Given the description of an element on the screen output the (x, y) to click on. 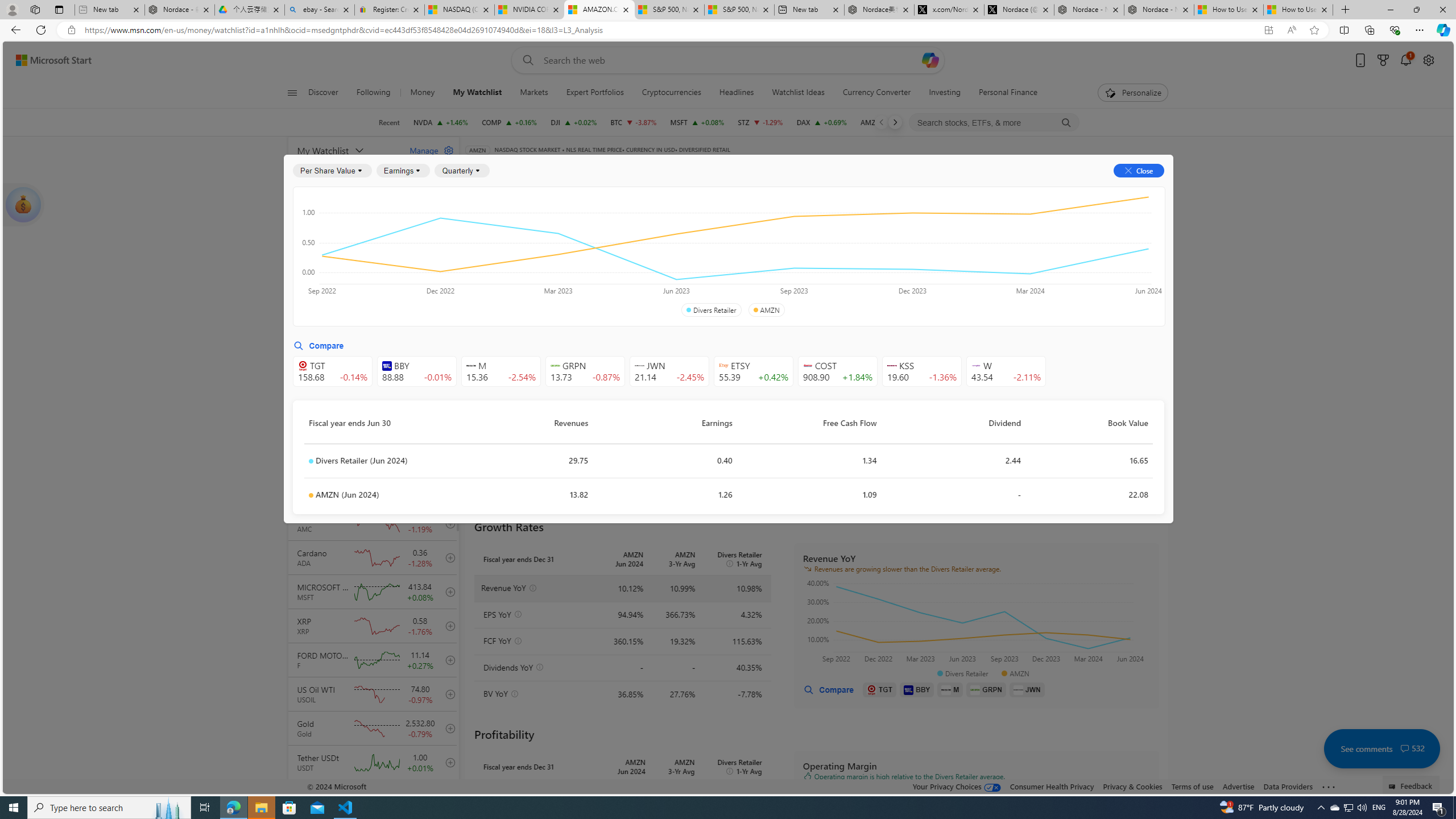
See more (1328, 787)
ebay - Search (319, 9)
Class: oneFooter_seeMore-DS-EntryPoint1-1 (1328, 786)
remove from your watchlist (447, 283)
BBY (916, 689)
Watchlist Ideas (798, 92)
Advertise (1238, 785)
Privacy & Cookies (1131, 785)
AMZN (766, 310)
Class: feedback_link_icon-DS-EntryPoint1-1 (1393, 786)
Class: text-DS-EntryPoint1-3 (888, 254)
App bar (728, 29)
